Given the description of an element on the screen output the (x, y) to click on. 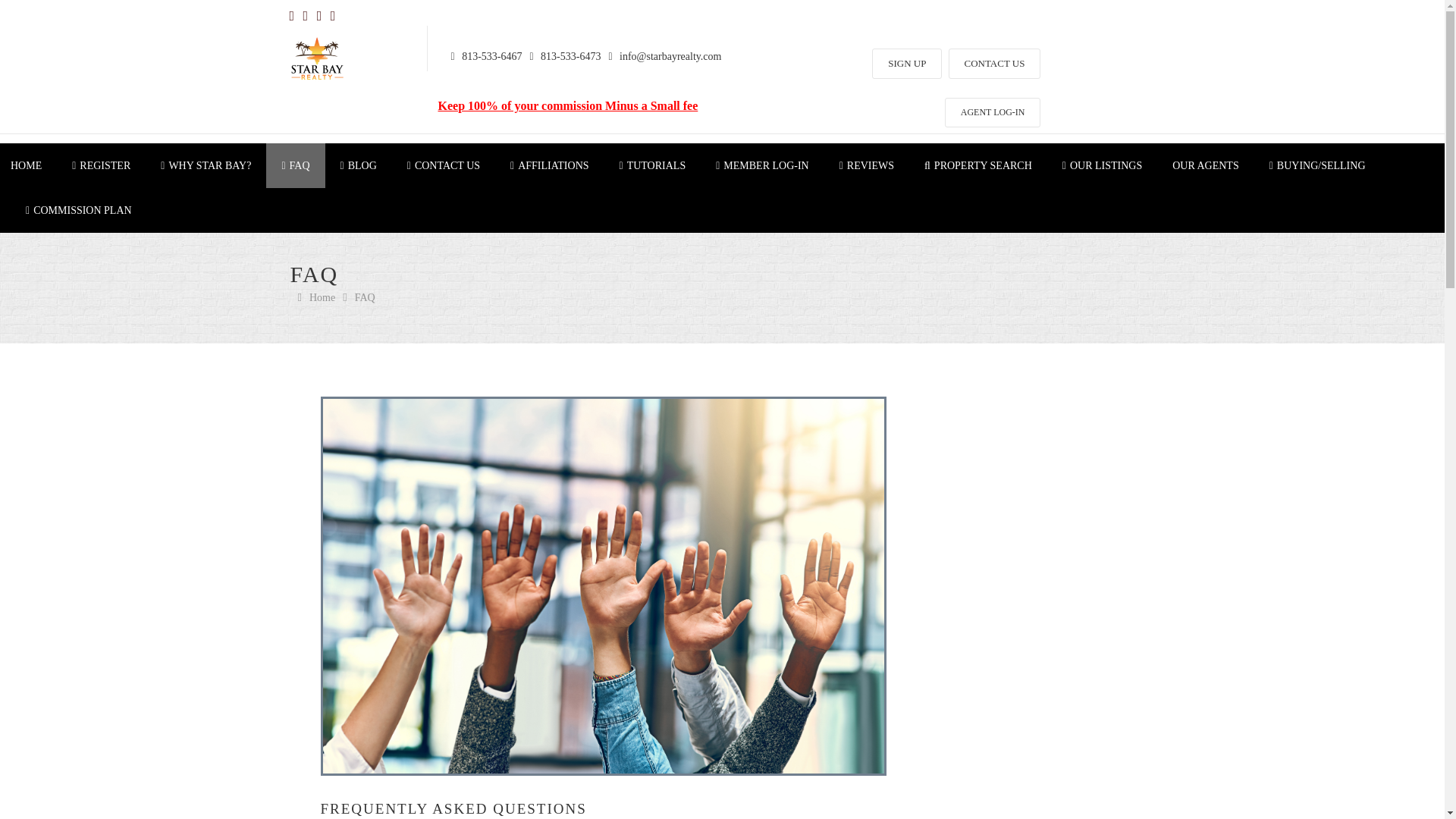
MEMBER LOG-IN (762, 165)
Starbay Realty (315, 59)
OUR AGENTS (1205, 165)
COMMISSION PLAN (78, 210)
PROPERTY SEARCH (977, 165)
HOME (33, 165)
AGENT LOG-IN (992, 112)
AFFILIATIONS (549, 165)
CONTACT US (994, 63)
BLOG (357, 165)
OUR LISTINGS (1101, 165)
REVIEWS (866, 165)
CONTACT US (443, 165)
SIGN UP (907, 63)
TUTORIALS (652, 165)
